Given the description of an element on the screen output the (x, y) to click on. 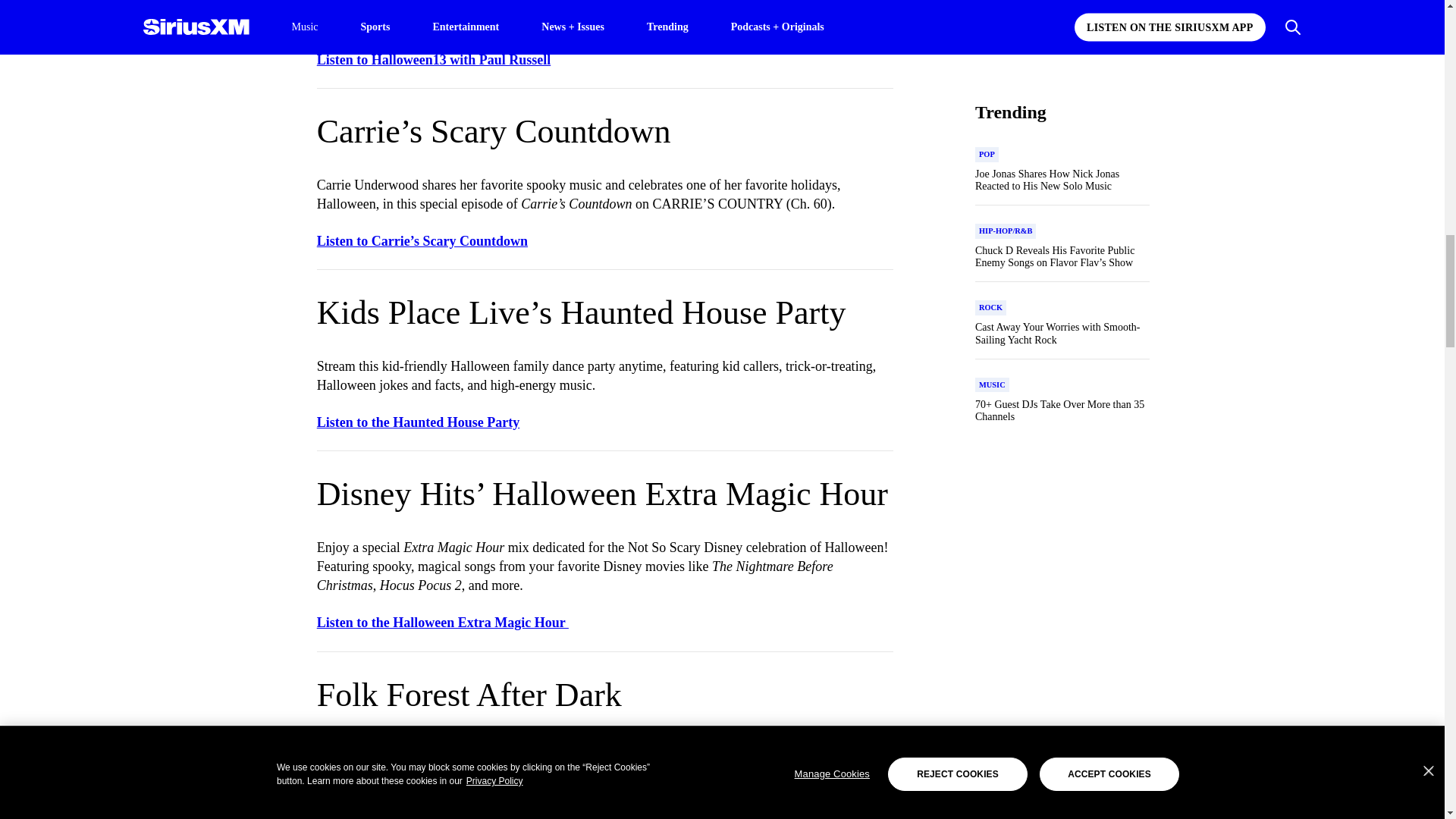
Listen to the Haunted House Party (418, 421)
Listen to Halloween13 with Paul Russell (434, 59)
